Given the description of an element on the screen output the (x, y) to click on. 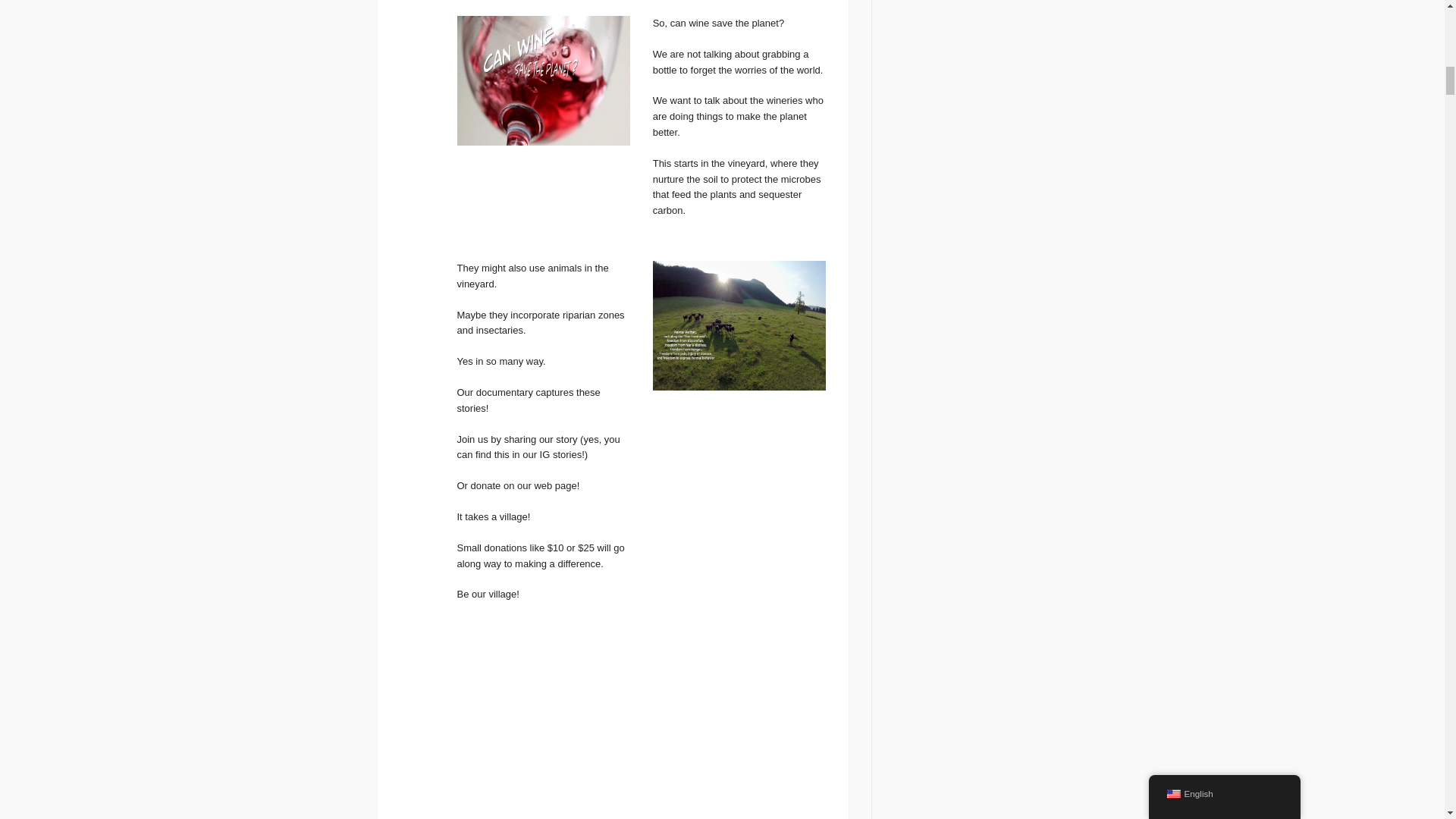
Animal Welfare (738, 325)
Can Wine Save the Planet, Documentary Project Funding Video (641, 731)
Can Wine Save the Planet Wine Pour (542, 80)
